Given the description of an element on the screen output the (x, y) to click on. 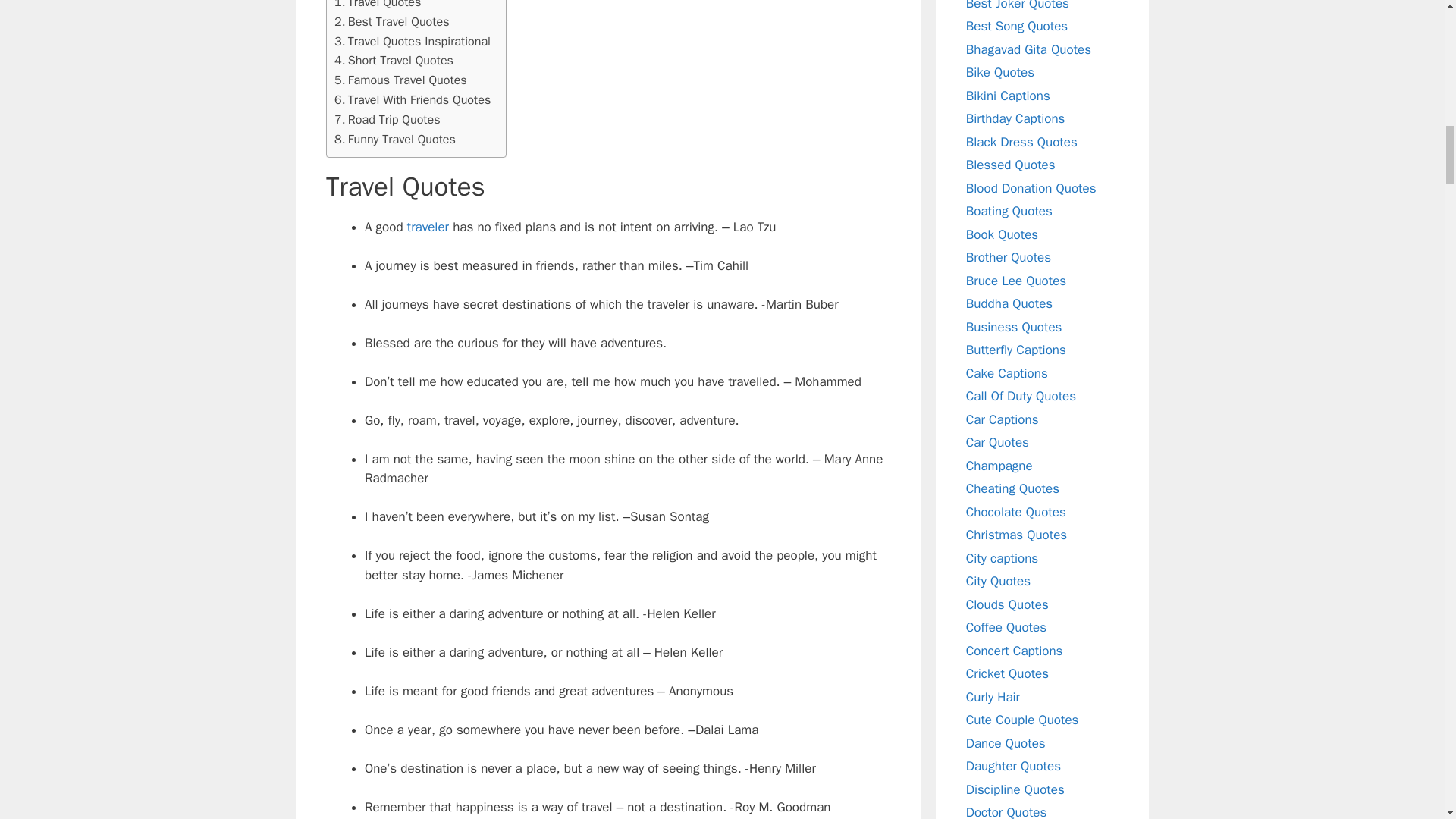
Funny Travel Quotes (394, 139)
Road Trip Quotes (387, 119)
Travel Quotes Inspirational (412, 41)
Road Trip Quotes (387, 119)
Travel Quotes (377, 6)
Short Travel Quotes (393, 60)
Best Travel Quotes (391, 21)
Travel Quotes Inspirational (412, 41)
Short Travel Quotes (393, 60)
Famous Travel Quotes (400, 80)
